Given the description of an element on the screen output the (x, y) to click on. 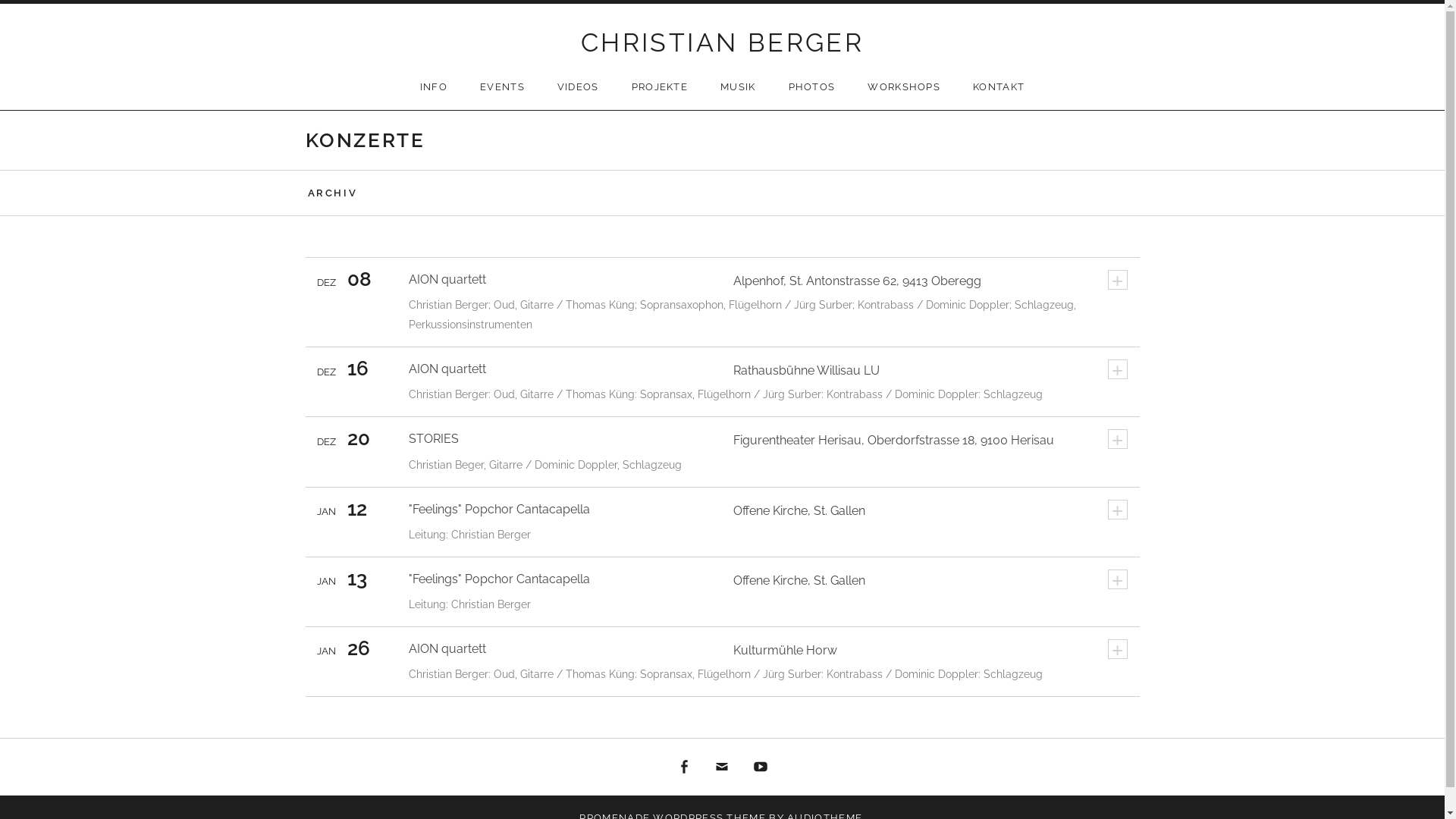
CHRISTIAN BERGER Element type: text (721, 42)
+ Element type: text (1116, 648)
ARCHIV Element type: text (332, 192)
+ Element type: text (1116, 279)
VIDEOS Element type: text (578, 86)
KONTAKT Element type: text (998, 86)
MUSIK Element type: text (738, 86)
WORKSHOPS Element type: text (903, 86)
+ Element type: text (1116, 579)
INFO Element type: text (433, 86)
+ Element type: text (1116, 369)
PHOTOS Element type: text (811, 86)
PROJEKTE Element type: text (659, 86)
Mail Element type: text (722, 767)
+ Element type: text (1116, 438)
Facebook Element type: text (684, 767)
Youtube Element type: text (760, 767)
EVENTS Element type: text (501, 86)
+ Element type: text (1116, 509)
